Given the description of an element on the screen output the (x, y) to click on. 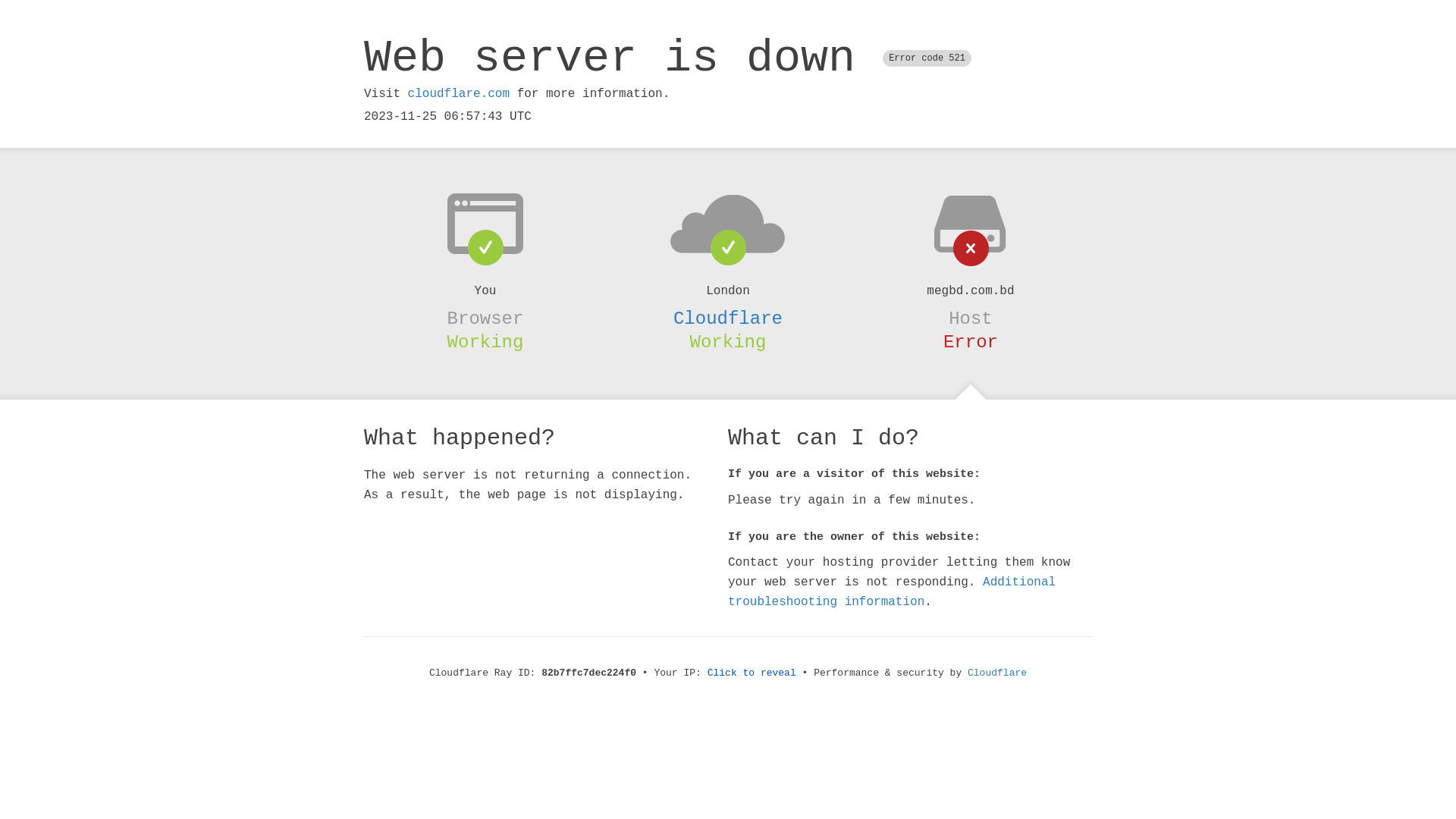
Cloudflare Element type: text (727, 318)
Additional troubleshooting information Element type: text (891, 591)
cloudflare.com Element type: text (458, 93)
Click to reveal Element type: text (751, 672)
Cloudflare Element type: text (996, 672)
